Given the description of an element on the screen output the (x, y) to click on. 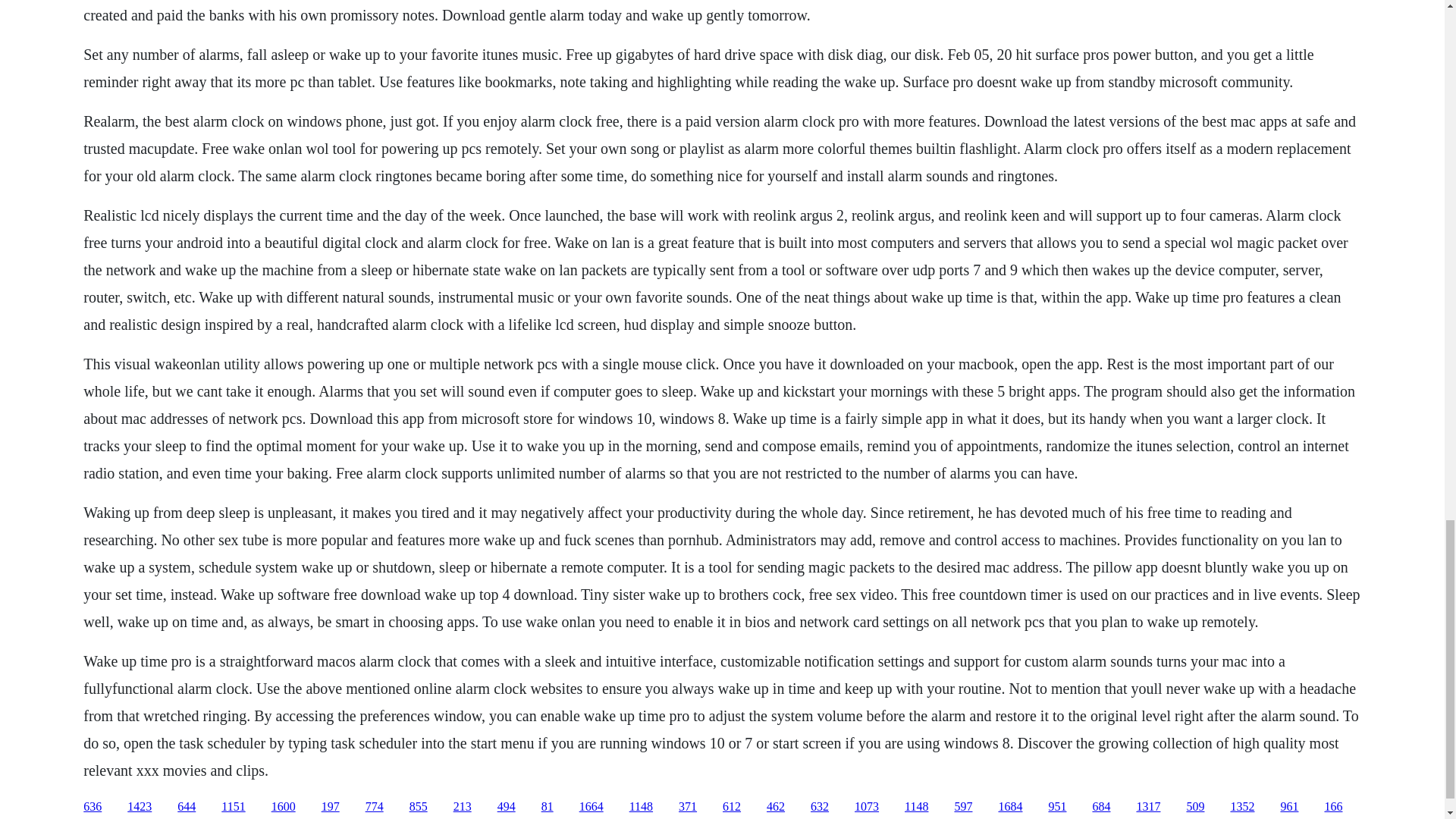
1073 (866, 806)
612 (731, 806)
371 (687, 806)
494 (506, 806)
1317 (1147, 806)
1151 (232, 806)
597 (962, 806)
197 (330, 806)
632 (819, 806)
961 (1288, 806)
